Given the description of an element on the screen output the (x, y) to click on. 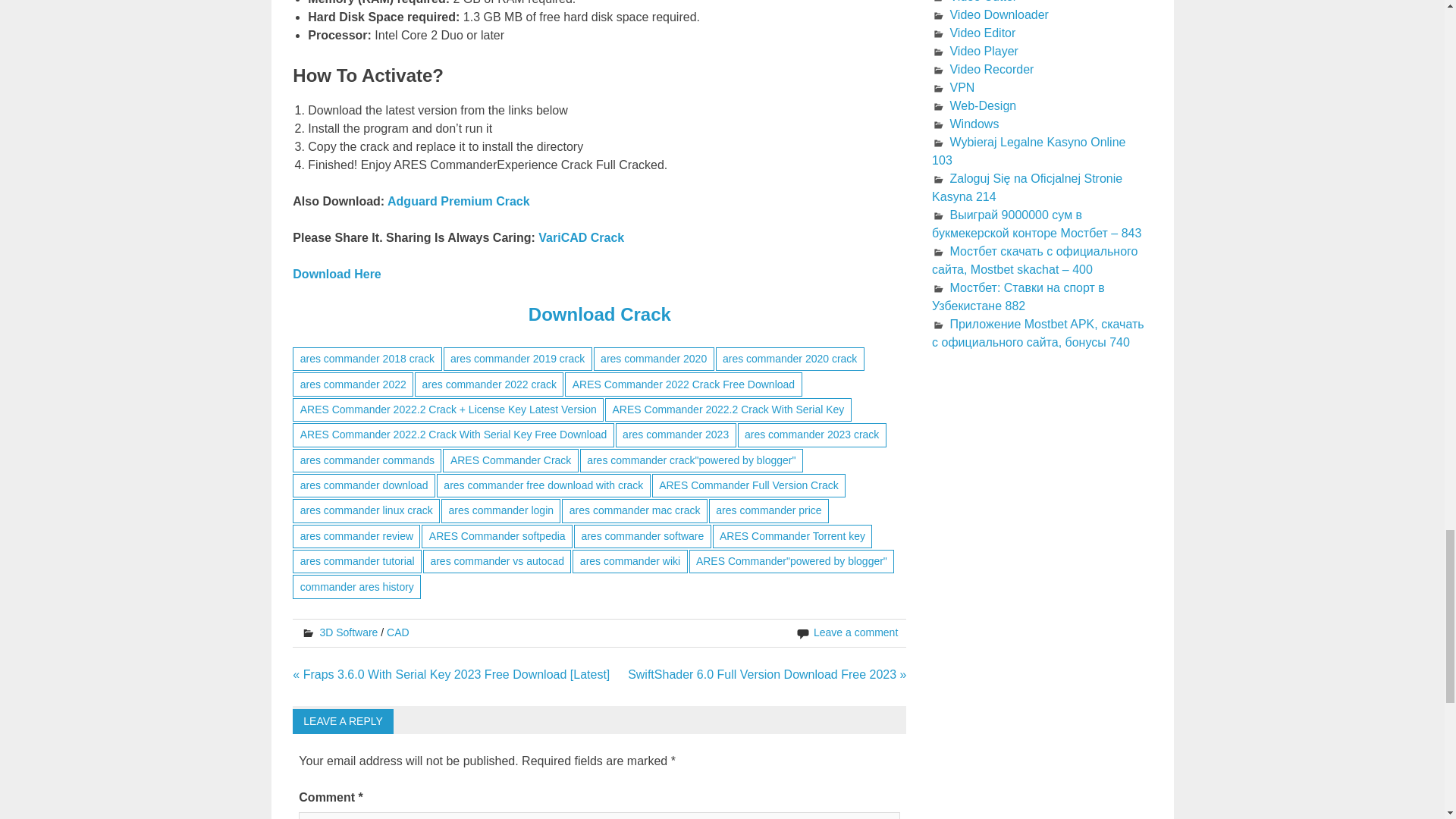
Download Crack (599, 313)
Adguard Premium Crack (458, 201)
Download Here (336, 273)
VariCAD Crack (581, 237)
